Given the description of an element on the screen output the (x, y) to click on. 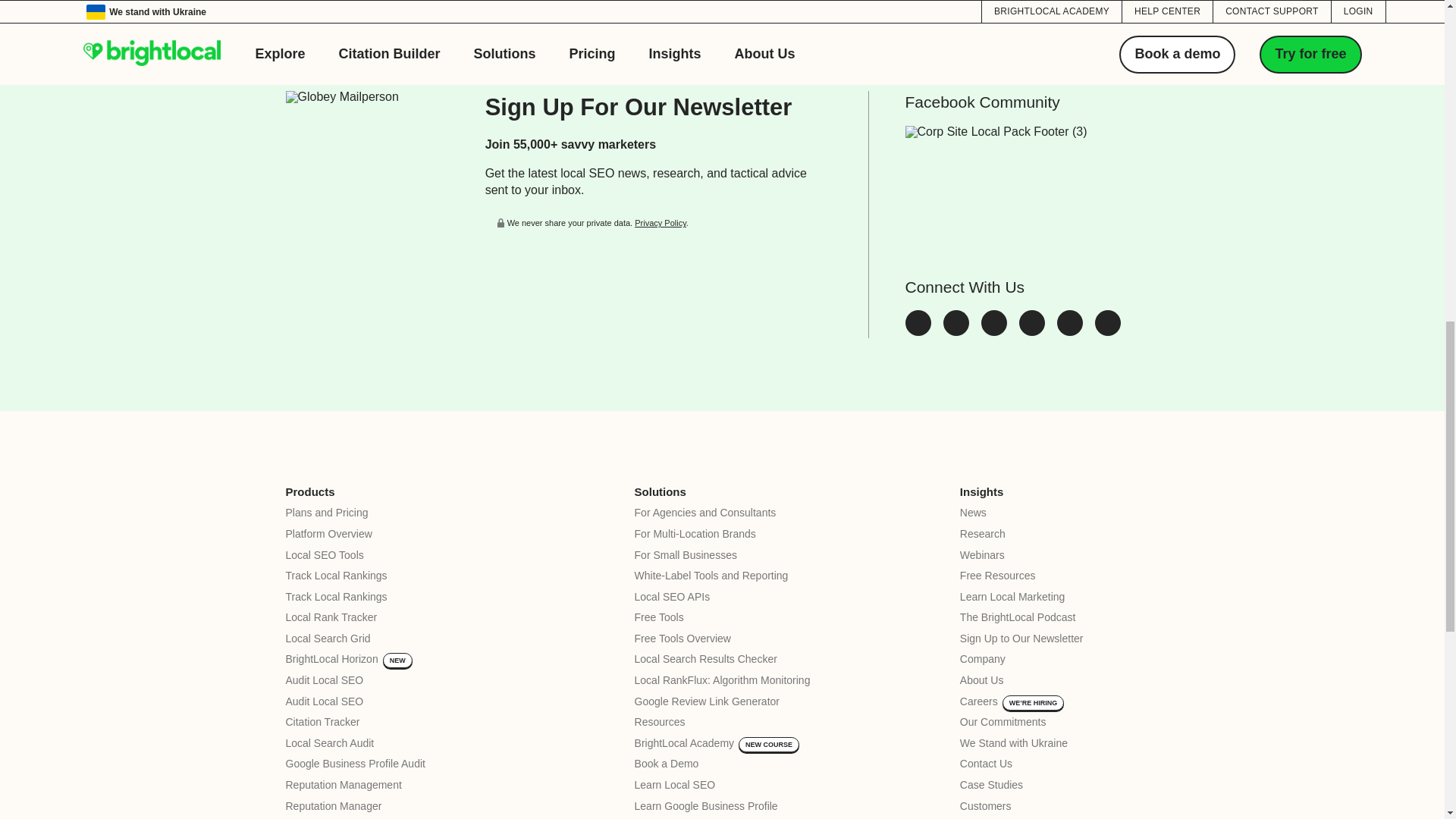
Twitter (918, 331)
Privacy Policy (659, 222)
Linkedin (994, 331)
The Local Pack (1107, 331)
YouTube (1070, 331)
Instagram (1032, 331)
Facebook (956, 331)
